Given the description of an element on the screen output the (x, y) to click on. 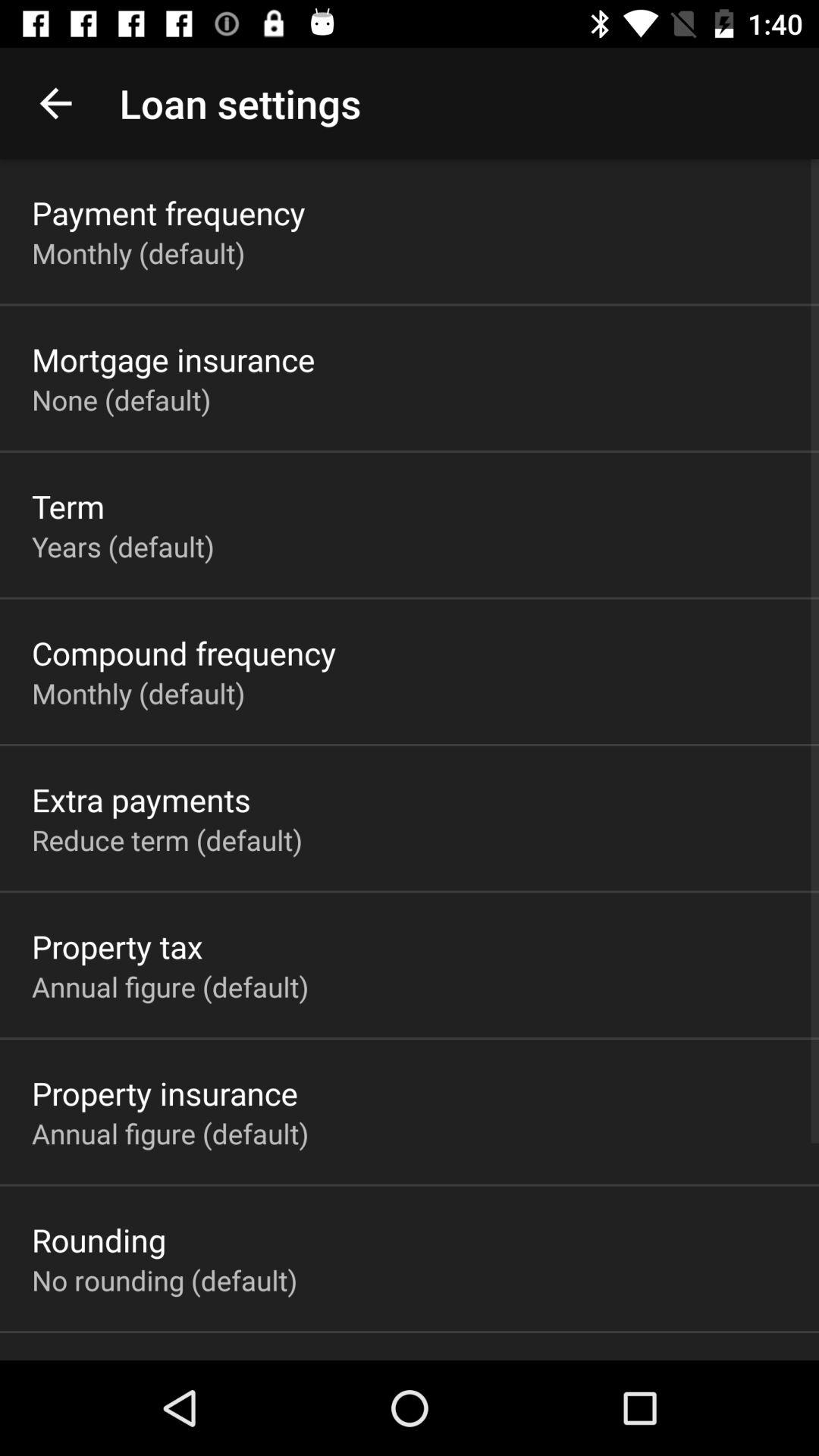
turn off the icon below term app (122, 546)
